Given the description of an element on the screen output the (x, y) to click on. 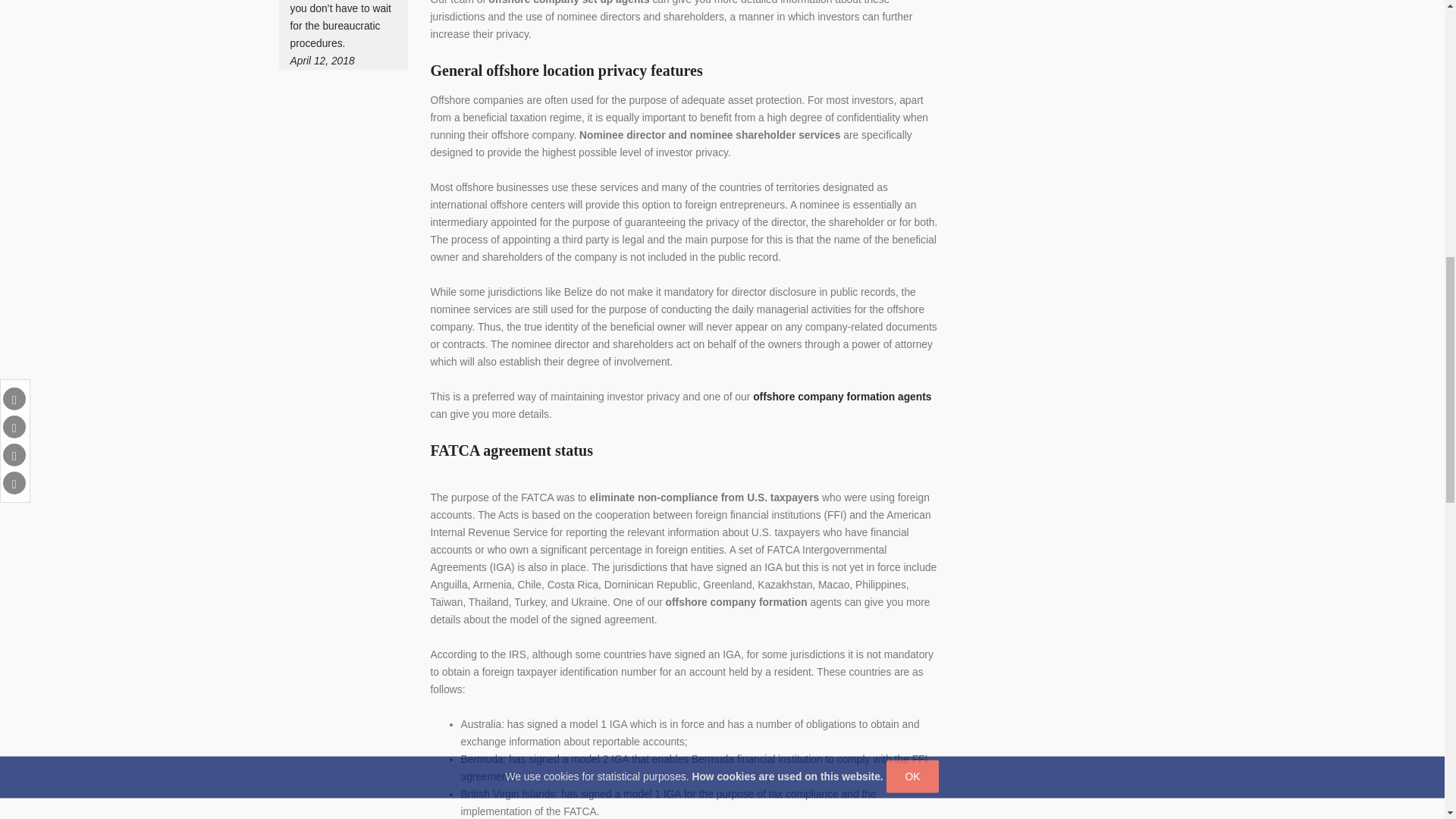
offshore company formation agents (841, 396)
